Given the description of an element on the screen output the (x, y) to click on. 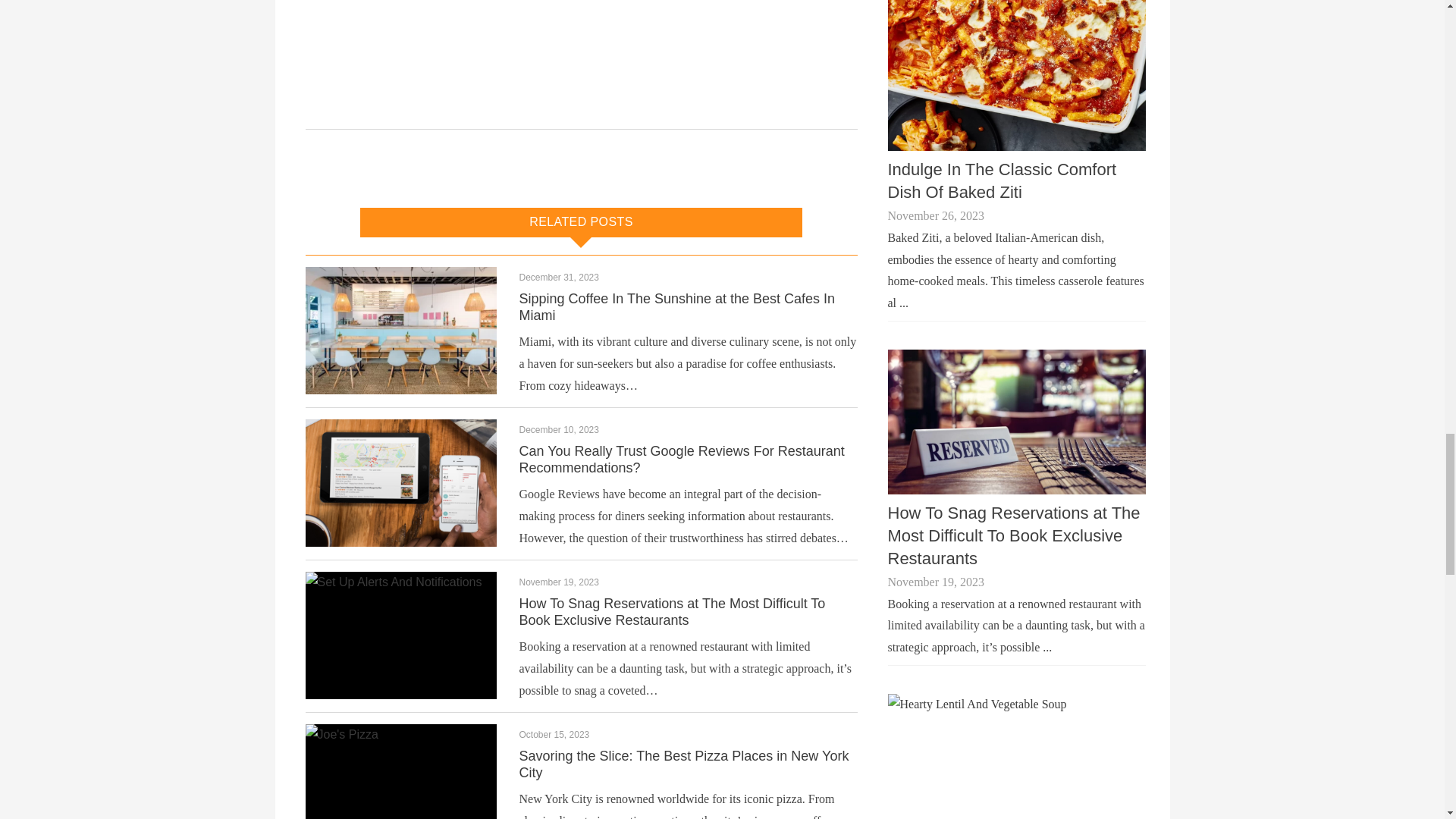
Savoring the Slice: The Best Pizza Places in New York City (683, 764)
Sipping Coffee In The Sunshine at the Best Cafes In Miami (676, 306)
